Given the description of an element on the screen output the (x, y) to click on. 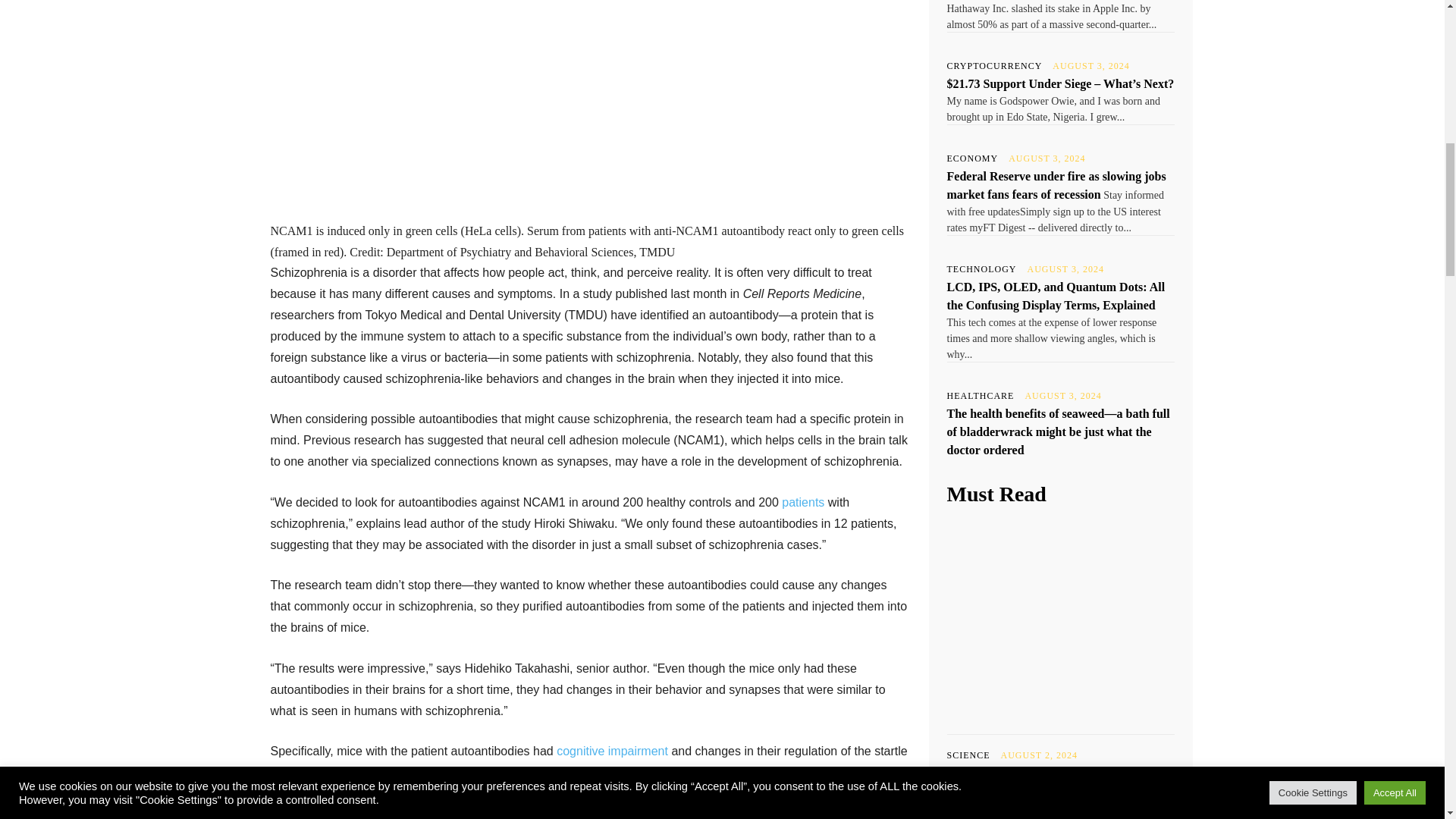
brain cells (705, 793)
cognitive impairment (612, 750)
patients (802, 502)
dendritic spines (572, 782)
